Given the description of an element on the screen output the (x, y) to click on. 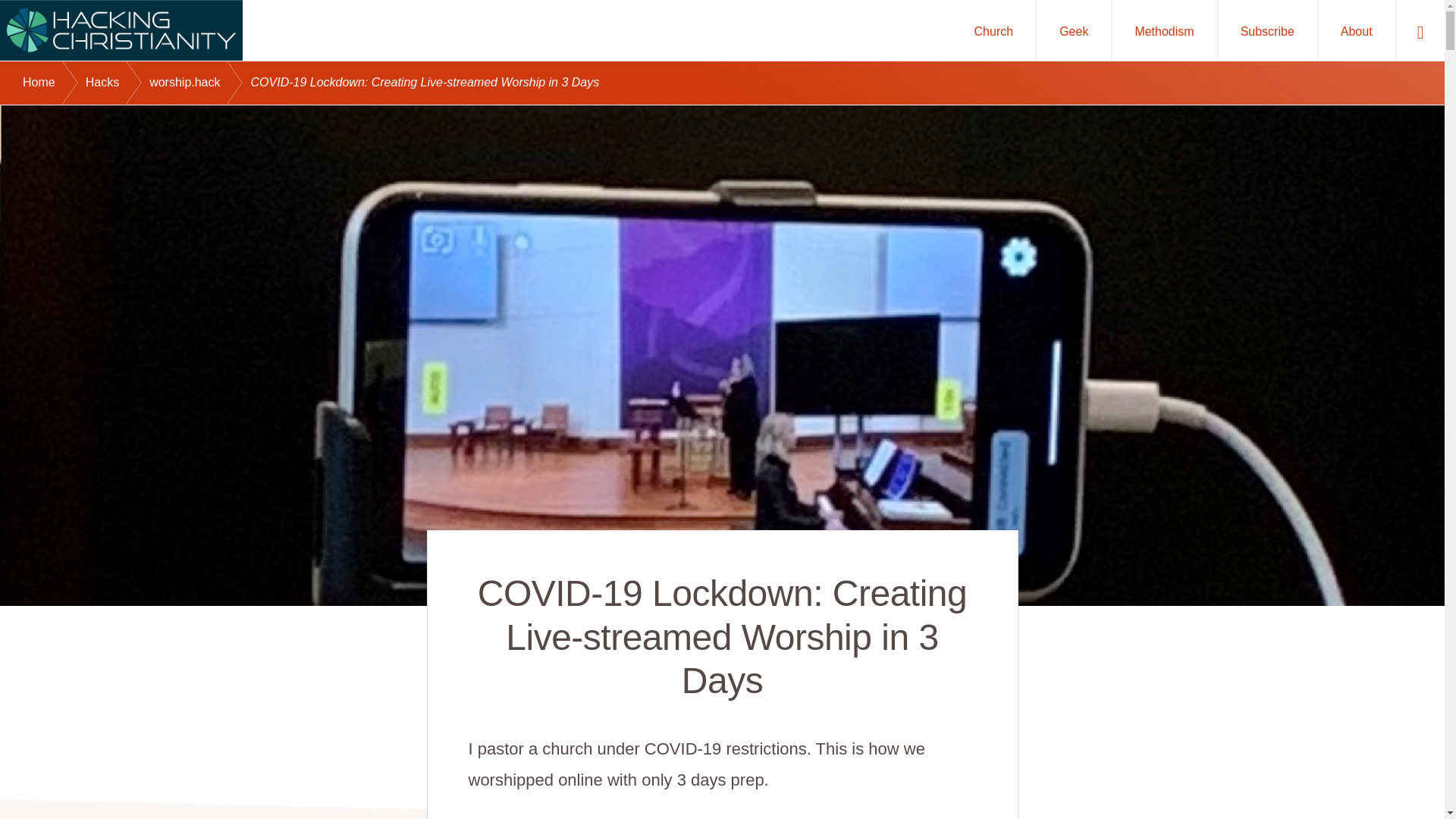
Hacks (117, 82)
Church (994, 30)
About (1355, 30)
Home (54, 82)
Methodism (1163, 30)
Geek (1073, 30)
Subscribe (1267, 30)
worship.hack (199, 82)
